Given the description of an element on the screen output the (x, y) to click on. 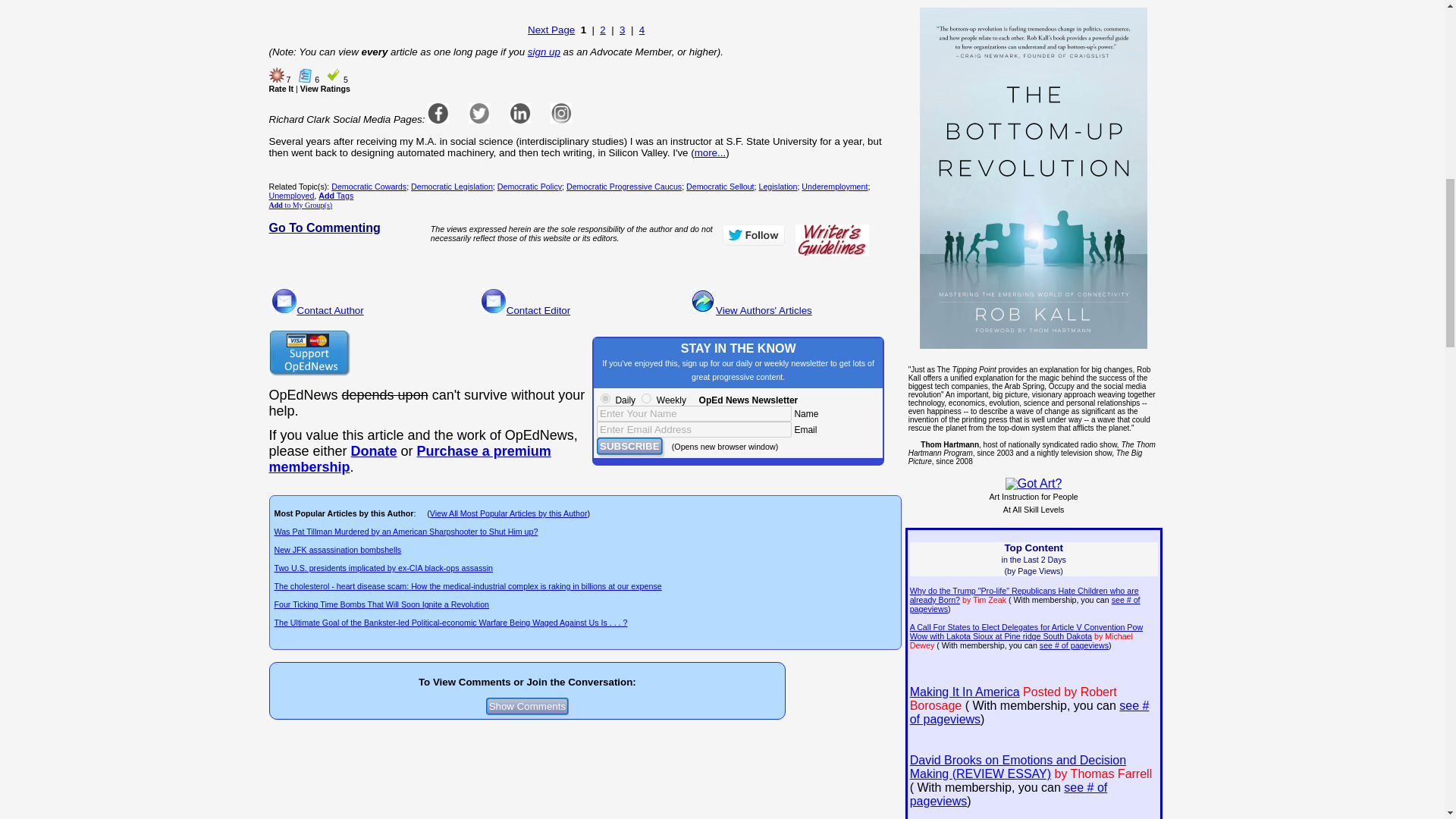
Legislation (777, 185)
Enter Your Name (694, 413)
-- (408, 459)
Supported (305, 74)
Follow Me on Twitter (753, 234)
-- (373, 450)
SUBSCRIBE (629, 446)
Democratic Policy (529, 185)
Must Read (275, 74)
Linkedin page url on login Profile not filled in (520, 112)
